Given the description of an element on the screen output the (x, y) to click on. 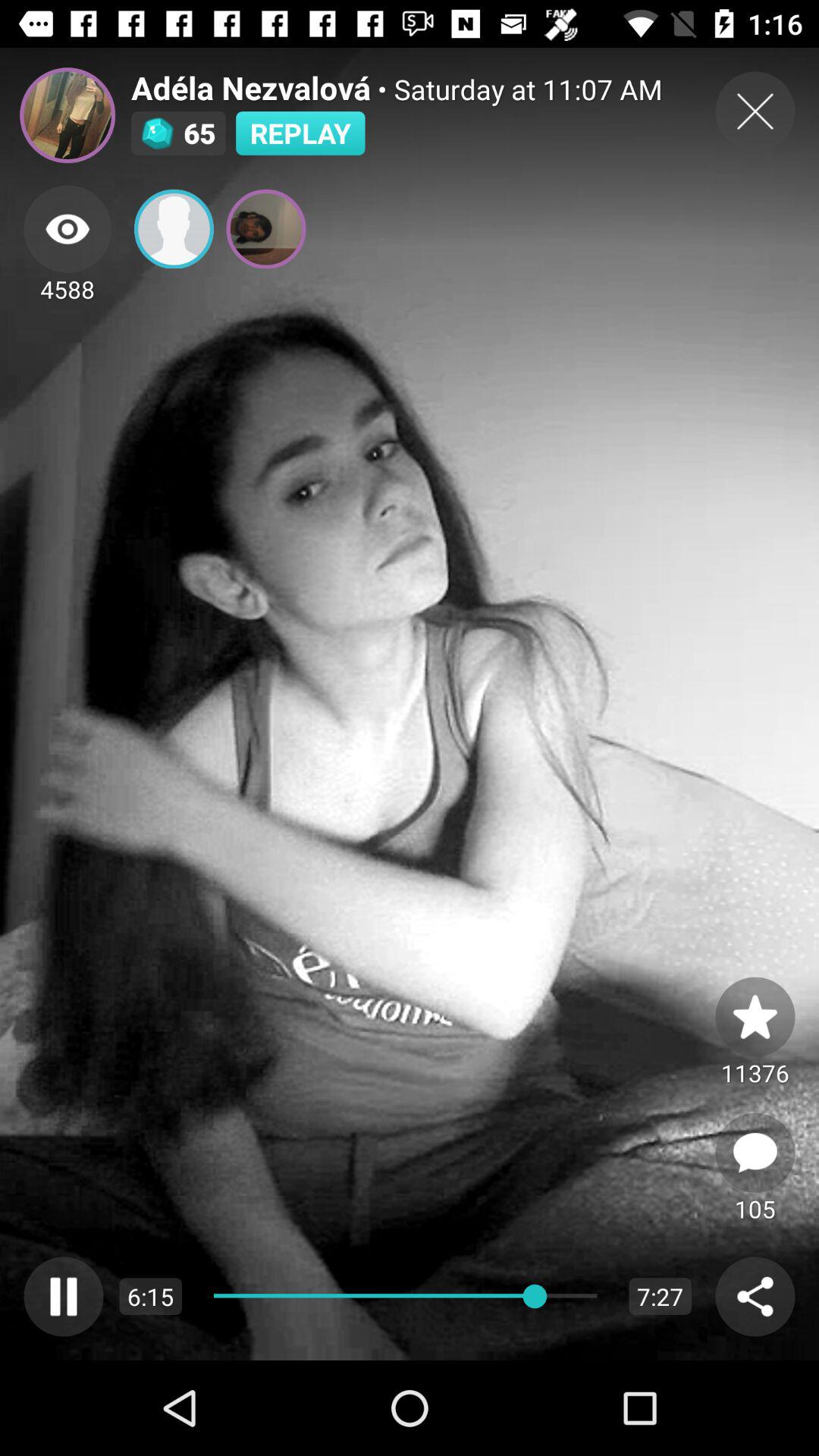
open comments (755, 1152)
